Given the description of an element on the screen output the (x, y) to click on. 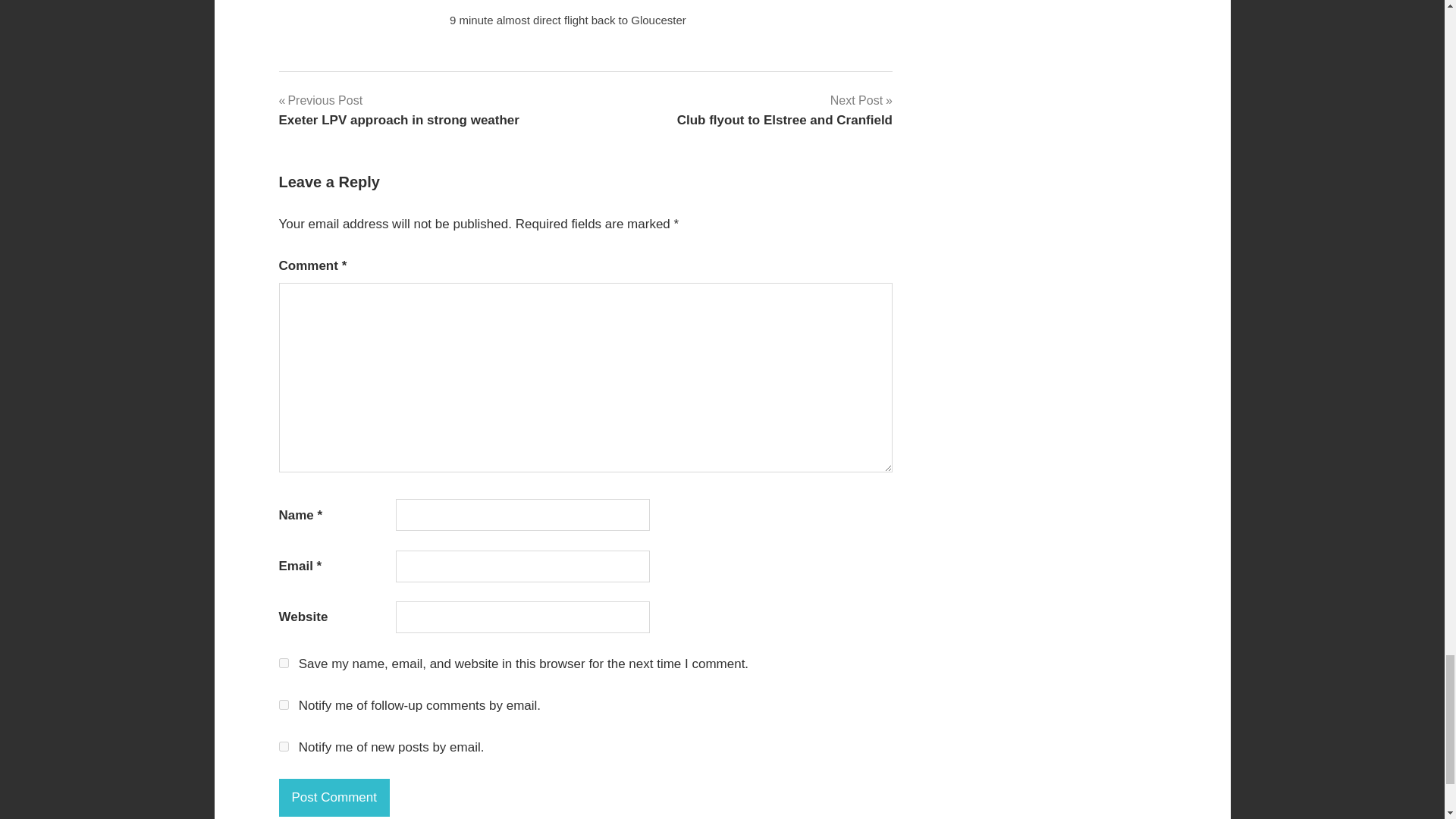
subscribe (399, 109)
Post Comment (283, 705)
yes (334, 797)
Post Comment (283, 663)
subscribe (784, 109)
